Given the description of an element on the screen output the (x, y) to click on. 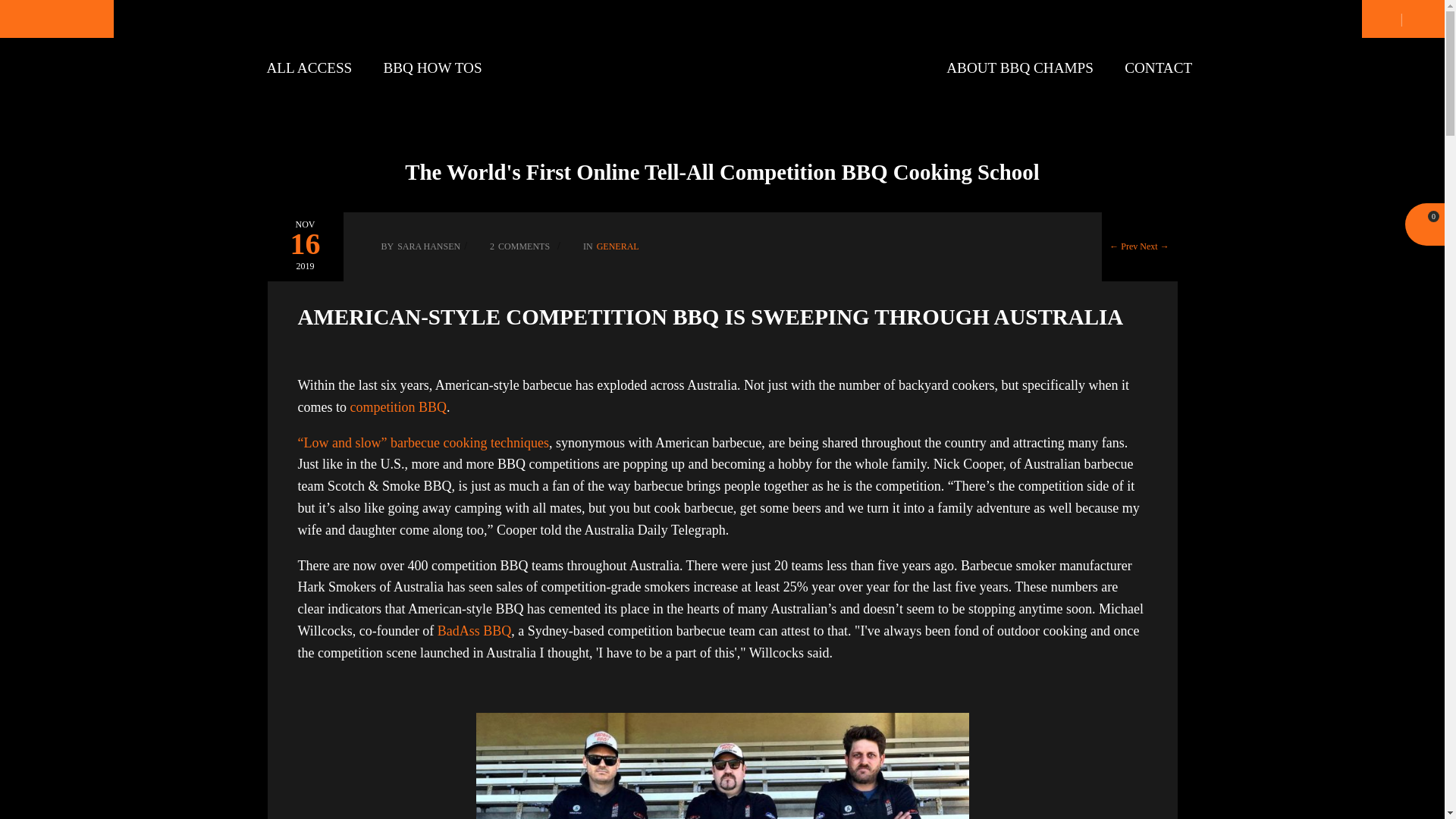
ABOUT BBQ CHAMPS (1027, 68)
BBQ HOW TOS (439, 68)
CONTACT (1158, 68)
GENERAL (617, 245)
ALL ACCESS (317, 68)
